Given the description of an element on the screen output the (x, y) to click on. 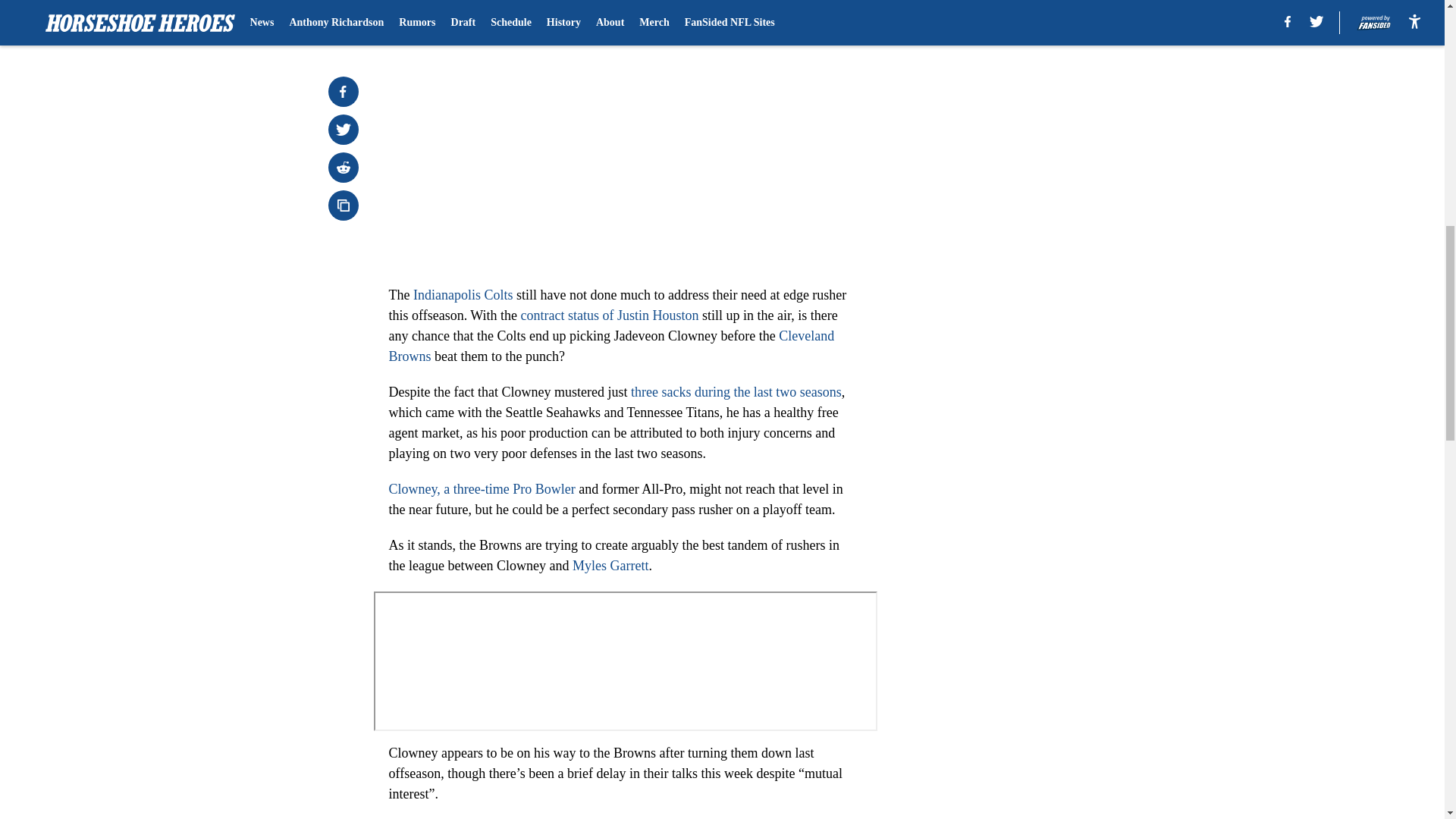
Clowney, a three-time Pro Bowler (481, 488)
Cleveland Browns (611, 345)
Indianapolis Colts (463, 294)
three sacks during the last two seasons (734, 391)
contract status of Justin Houston (609, 314)
Myles Garrett (609, 565)
